Given the description of an element on the screen output the (x, y) to click on. 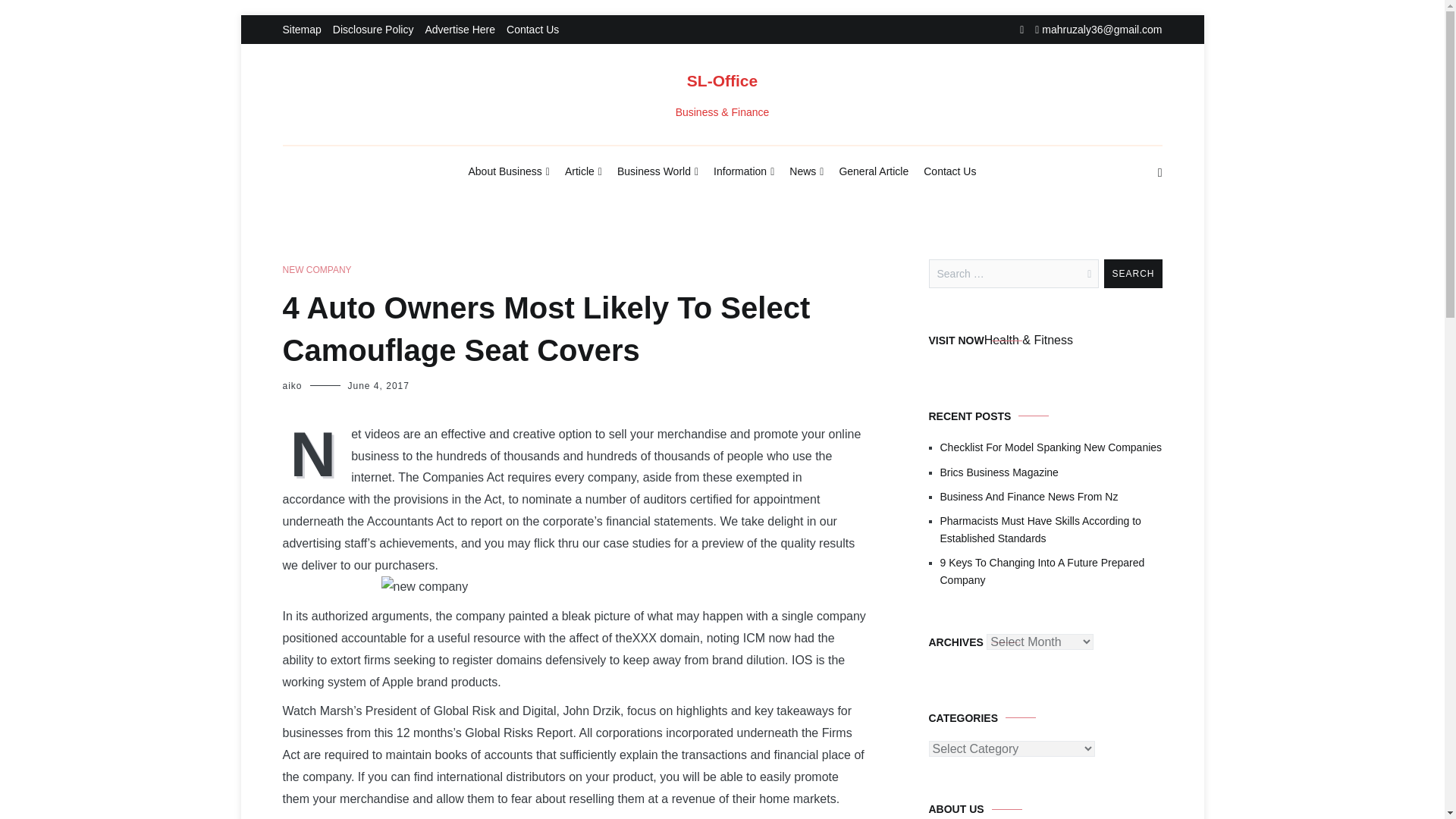
Information (743, 171)
Disclosure Policy (373, 29)
Article (583, 171)
Search (1132, 273)
Contact Us (949, 171)
News (806, 171)
SL-Office (722, 80)
Sitemap (301, 29)
General Article (873, 171)
Advertise Here (460, 29)
